Given the description of an element on the screen output the (x, y) to click on. 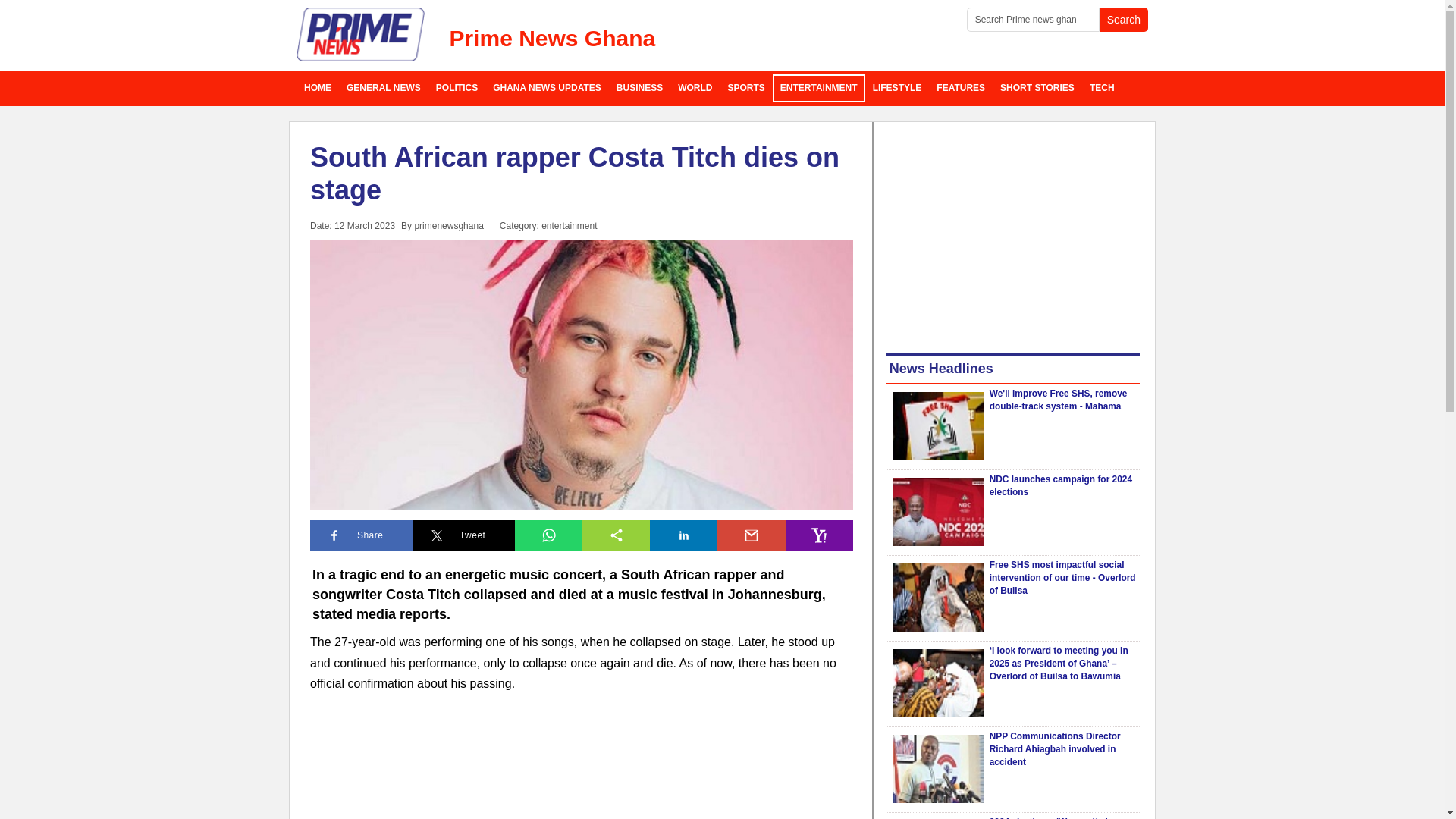
Top ghana news headlines (383, 88)
South African rapper Costa Titch dies on stage (575, 173)
Business news (638, 88)
Ghana Sports news (746, 88)
NDC launches campaign for 2024 elections (1061, 485)
GHANA NEWS UPDATES (546, 88)
We'll improve Free SHS, remove double-track system - Mahama (938, 426)
Today's World News covering, Africa, Europe, Middle East (694, 88)
Short Stories on Primenewsghana.com (1036, 88)
Ghana Features and Opinion Articles (960, 88)
SPORTS (746, 88)
Advertisement (1012, 235)
